Given the description of an element on the screen output the (x, y) to click on. 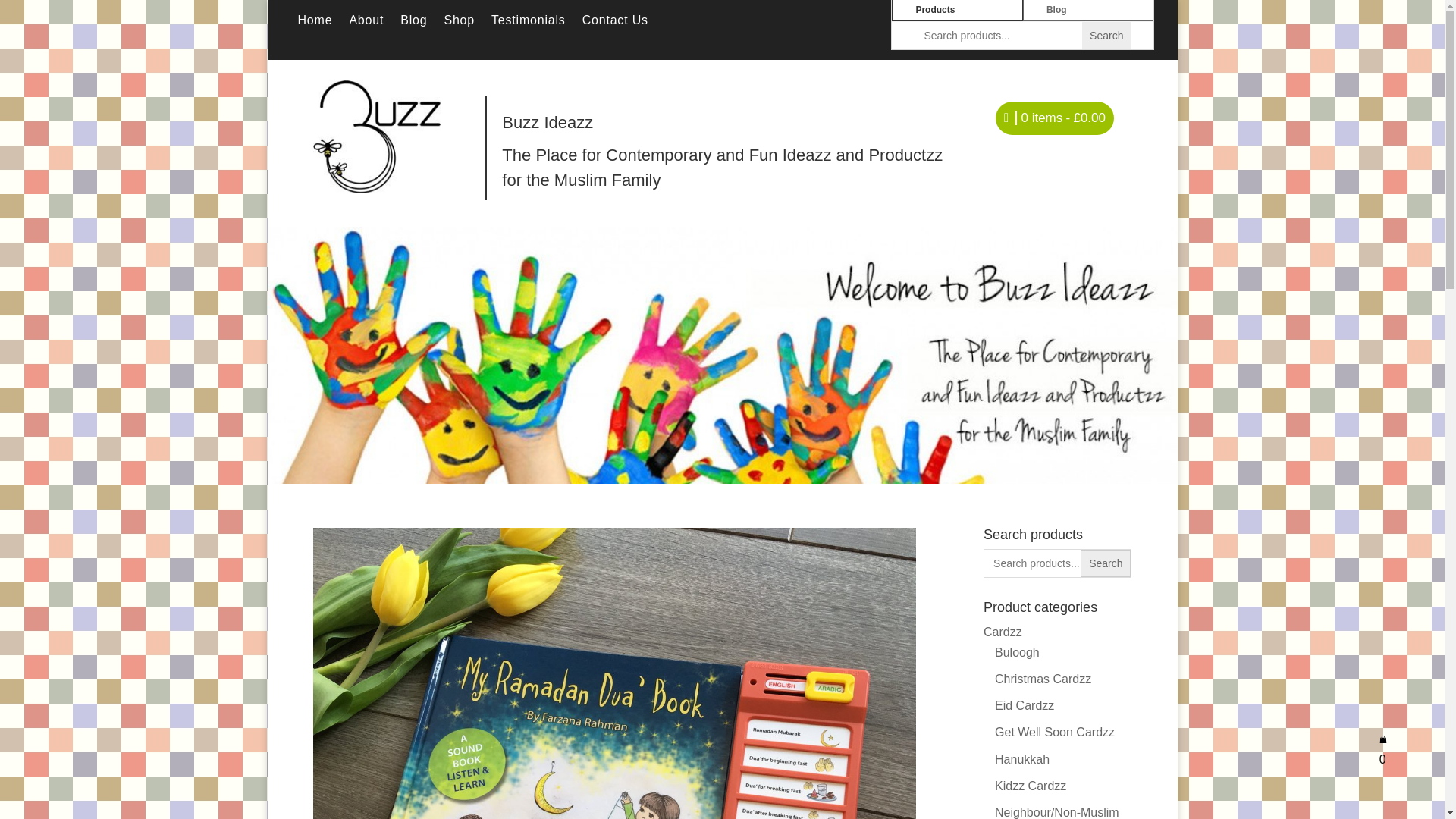
Search (1105, 563)
Home (314, 23)
Kidzz Cardzz (1029, 785)
Search (1106, 35)
buzzlogo (376, 136)
Blog (413, 23)
Christmas Cardzz (1042, 678)
Testimonials (529, 23)
Cardzz (1003, 631)
Shop (459, 23)
